Given the description of an element on the screen output the (x, y) to click on. 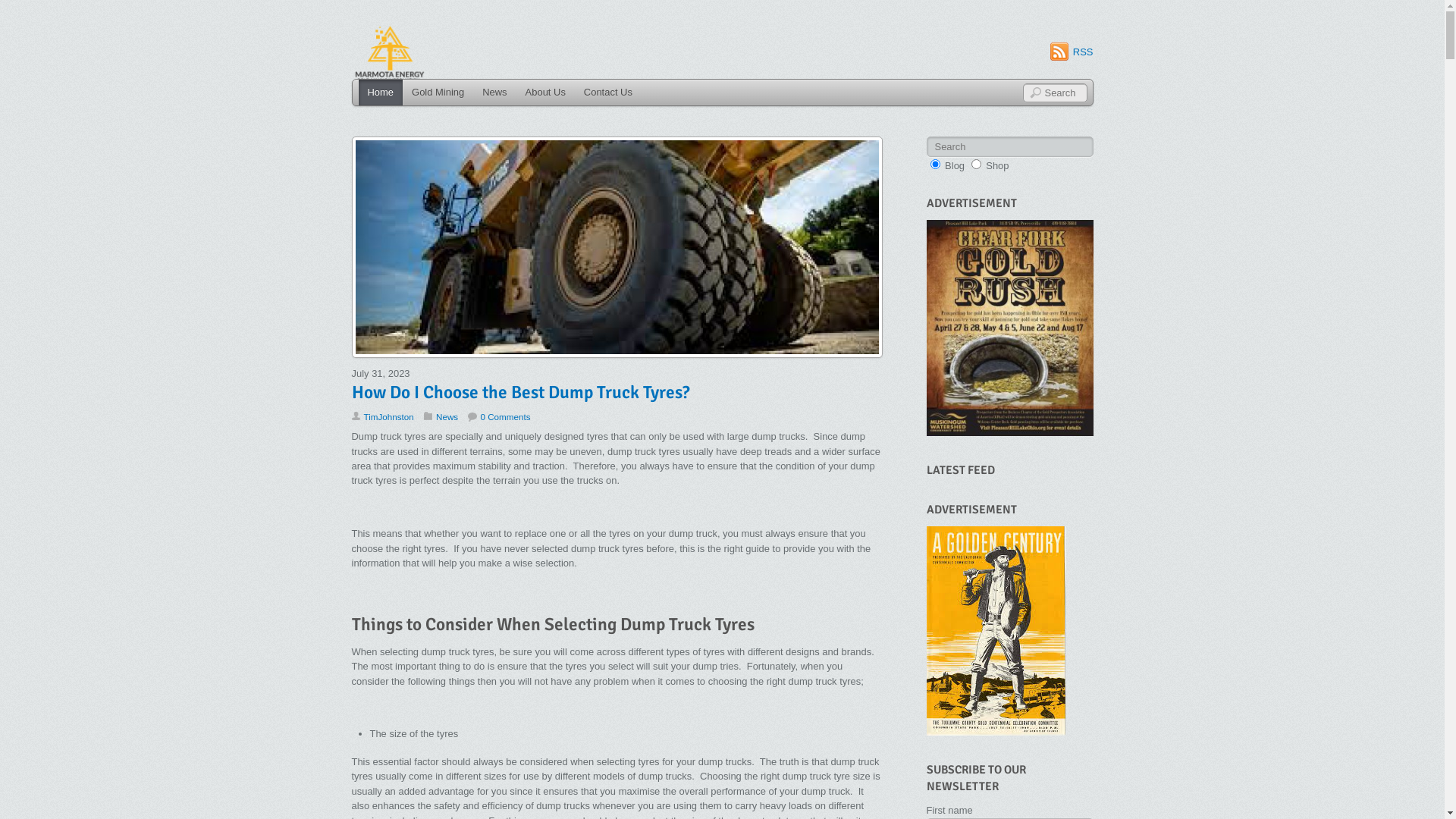
Advertisement Element type: hover (1009, 327)
News Element type: text (494, 92)
How Do I Choose the Best Dump Truck Tyres? Element type: text (520, 392)
Home Element type: text (379, 92)
RSS Element type: text (1071, 51)
Marmota Energy Element type: hover (389, 77)
About Us Element type: text (545, 92)
Contact Us Element type: text (607, 92)
News Element type: text (447, 416)
Marmota Energy Element type: hover (389, 52)
Advertisement Element type: hover (995, 630)
Gold Mining Element type: text (437, 92)
TimJohnston Element type: text (389, 416)
0 Comments Element type: text (498, 416)
